Given the description of an element on the screen output the (x, y) to click on. 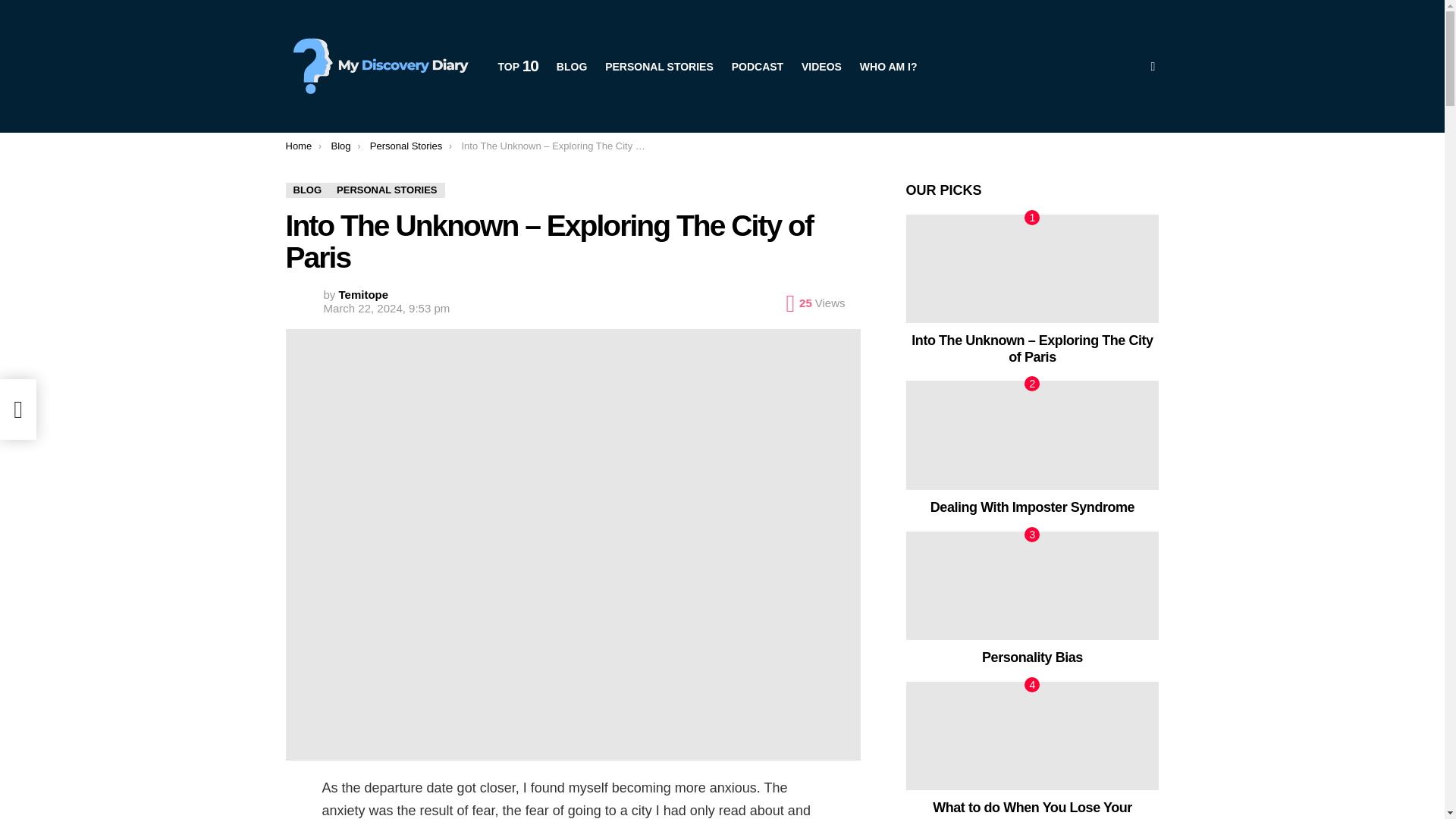
Posts by Temitope (363, 294)
VIDEOS (820, 65)
PERSONAL STORIES (658, 65)
WHO AM I? (887, 65)
BLOG (571, 65)
Personal Stories (405, 145)
Home (298, 145)
Blog (340, 145)
TOP 10 (516, 65)
Temitope (363, 294)
